Given the description of an element on the screen output the (x, y) to click on. 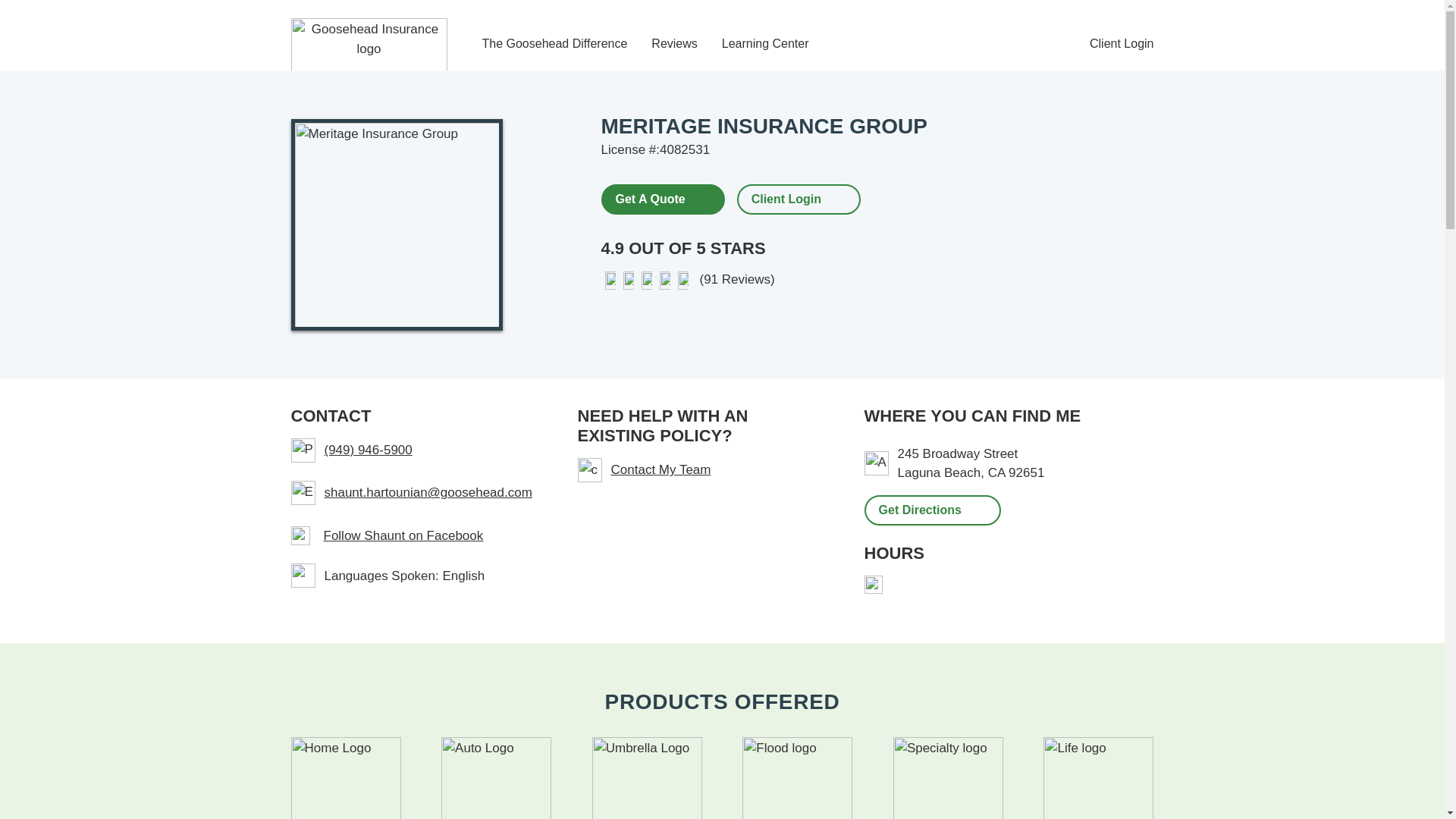
LIFE (1098, 778)
Contact My Team (703, 469)
Client Login (1121, 44)
FLOOD (796, 778)
HOME (346, 778)
Get Directions (932, 510)
AUTO (496, 778)
Client Login (786, 198)
Get A Quote (661, 198)
UMBRELLA (646, 778)
Reviews (673, 44)
California (997, 472)
SPECIALTY (948, 778)
Learning Center (765, 44)
